Given the description of an element on the screen output the (x, y) to click on. 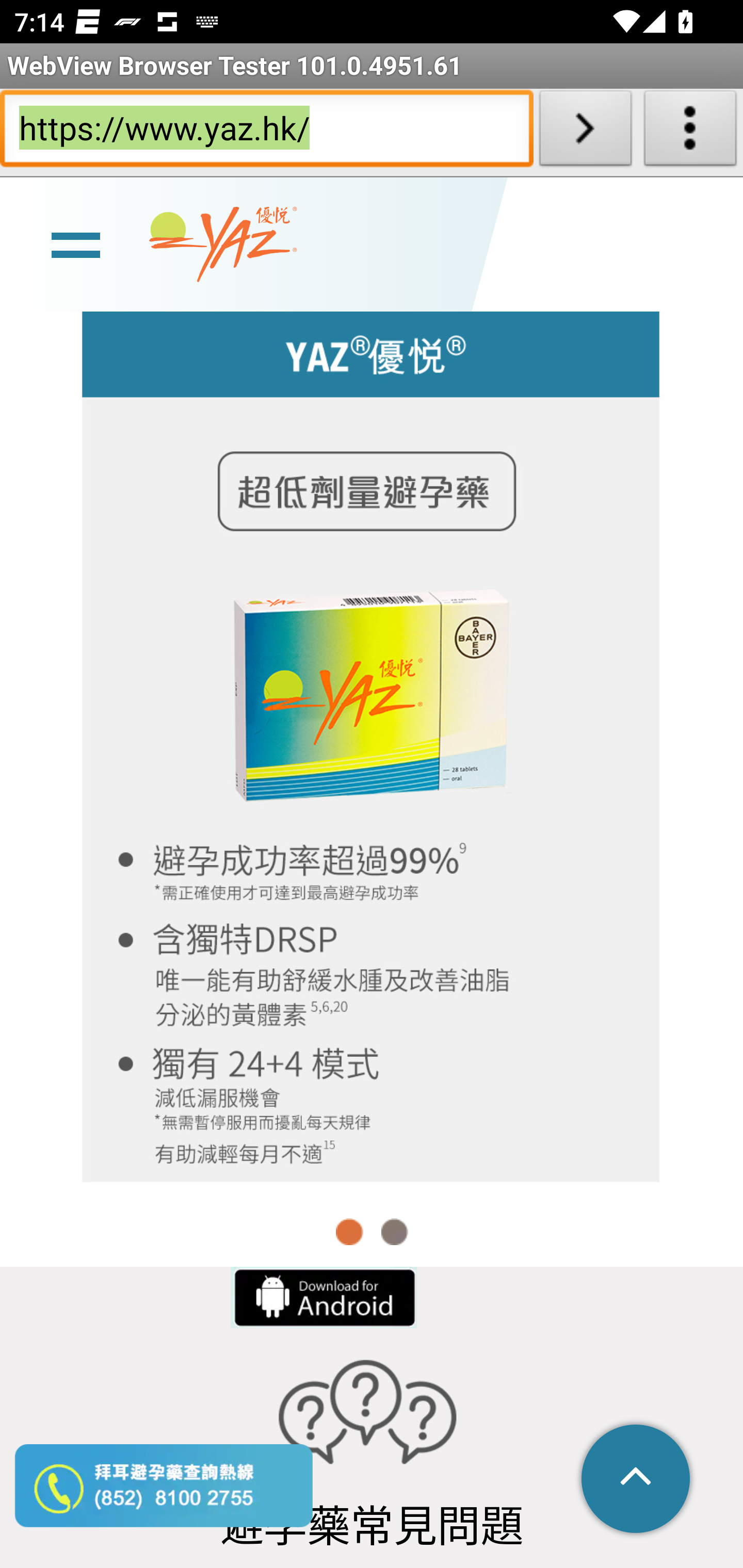
https://www.yaz.hk/ (266, 132)
Load URL (585, 132)
About WebView (690, 132)
www.yaz (222, 244)
line Toggle burger menu (75, 242)
slide 1 (371, 742)
1 of 2 (349, 1230)
2 of 2 (393, 1230)
details?id=com.bayer.ph (322, 1296)
 (636, 1480)
